Given the description of an element on the screen output the (x, y) to click on. 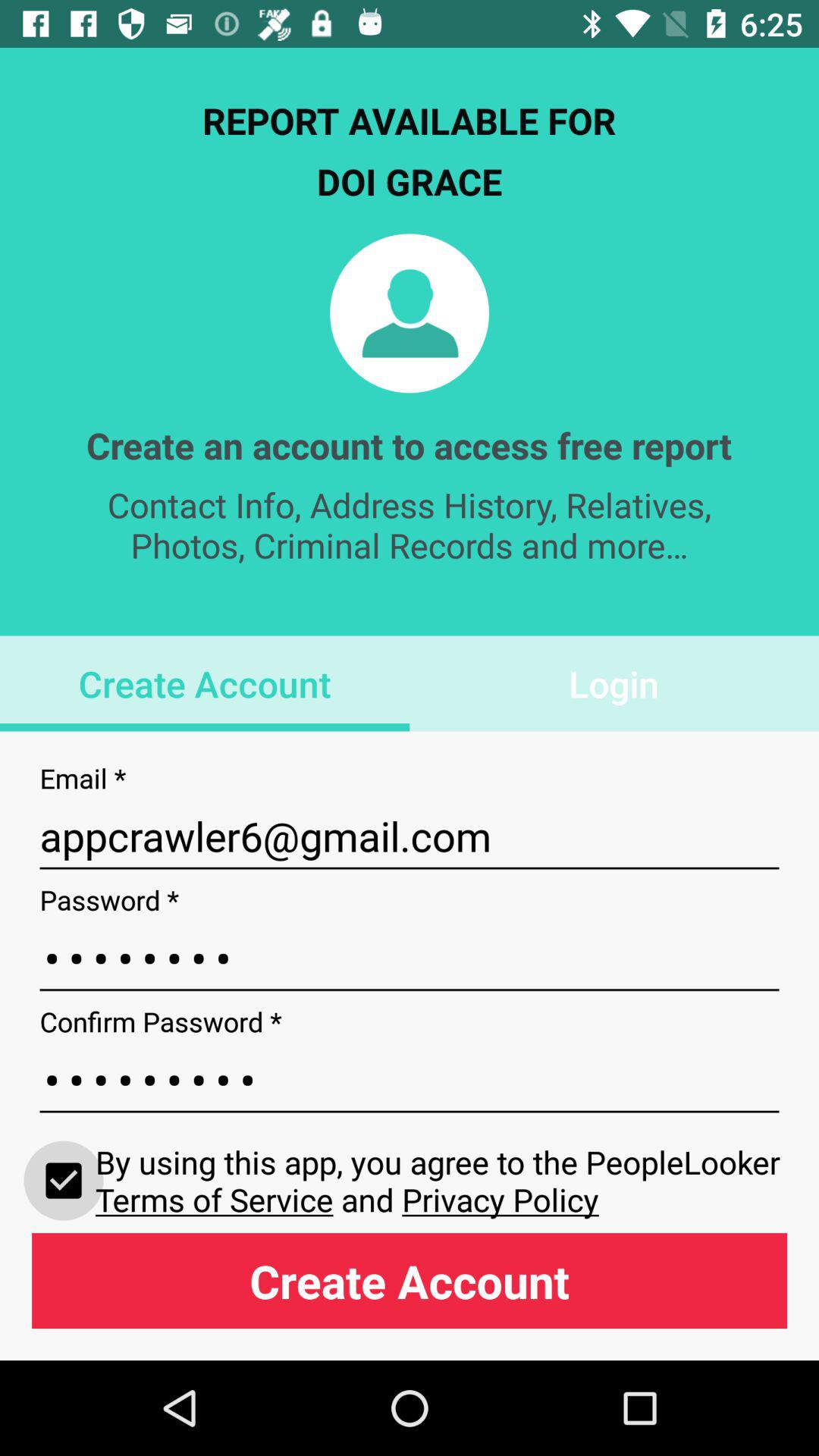
select crod3116 icon (409, 958)
